Given the description of an element on the screen output the (x, y) to click on. 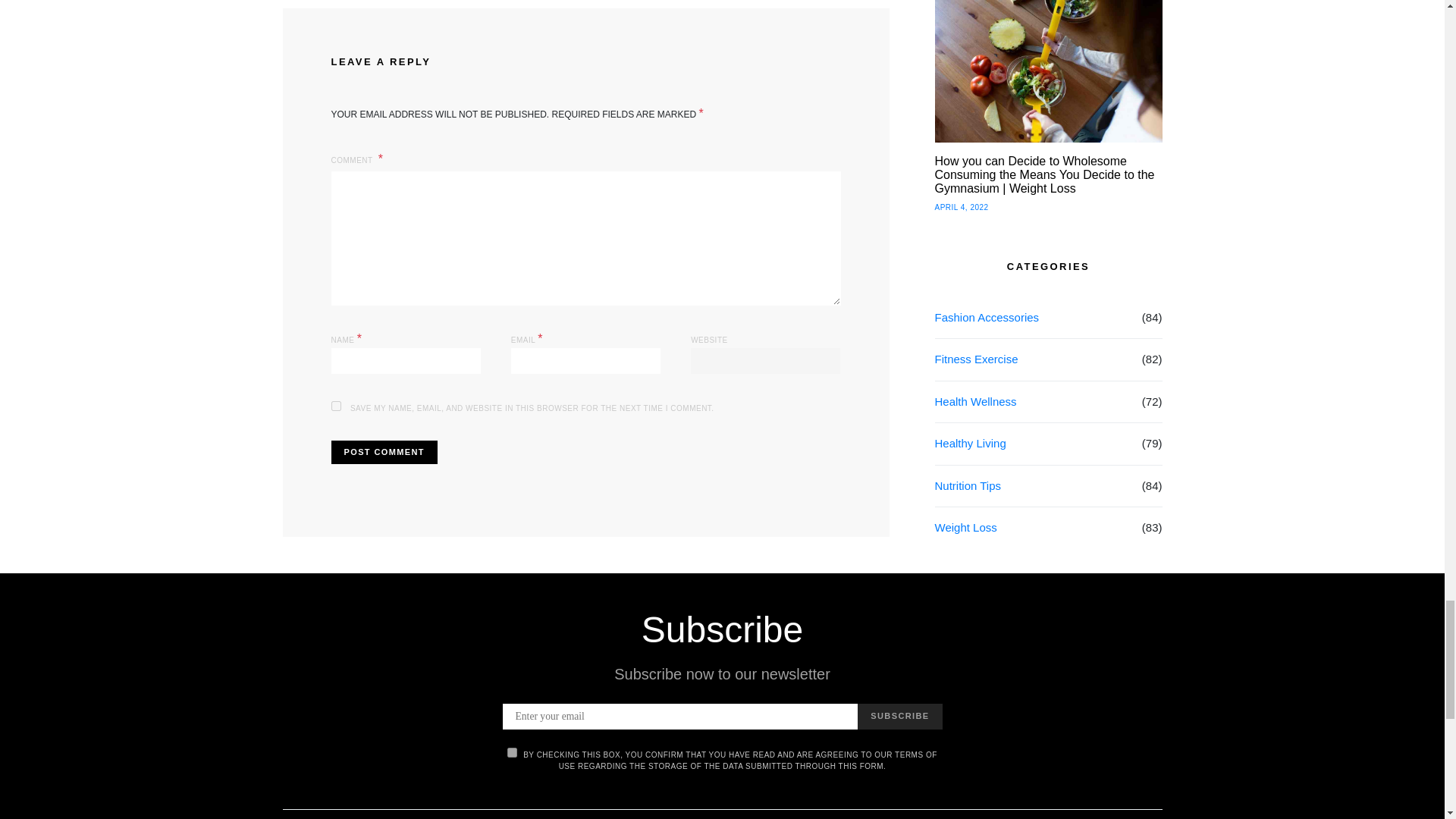
yes (335, 406)
on (511, 752)
Post Comment (383, 452)
